Given the description of an element on the screen output the (x, y) to click on. 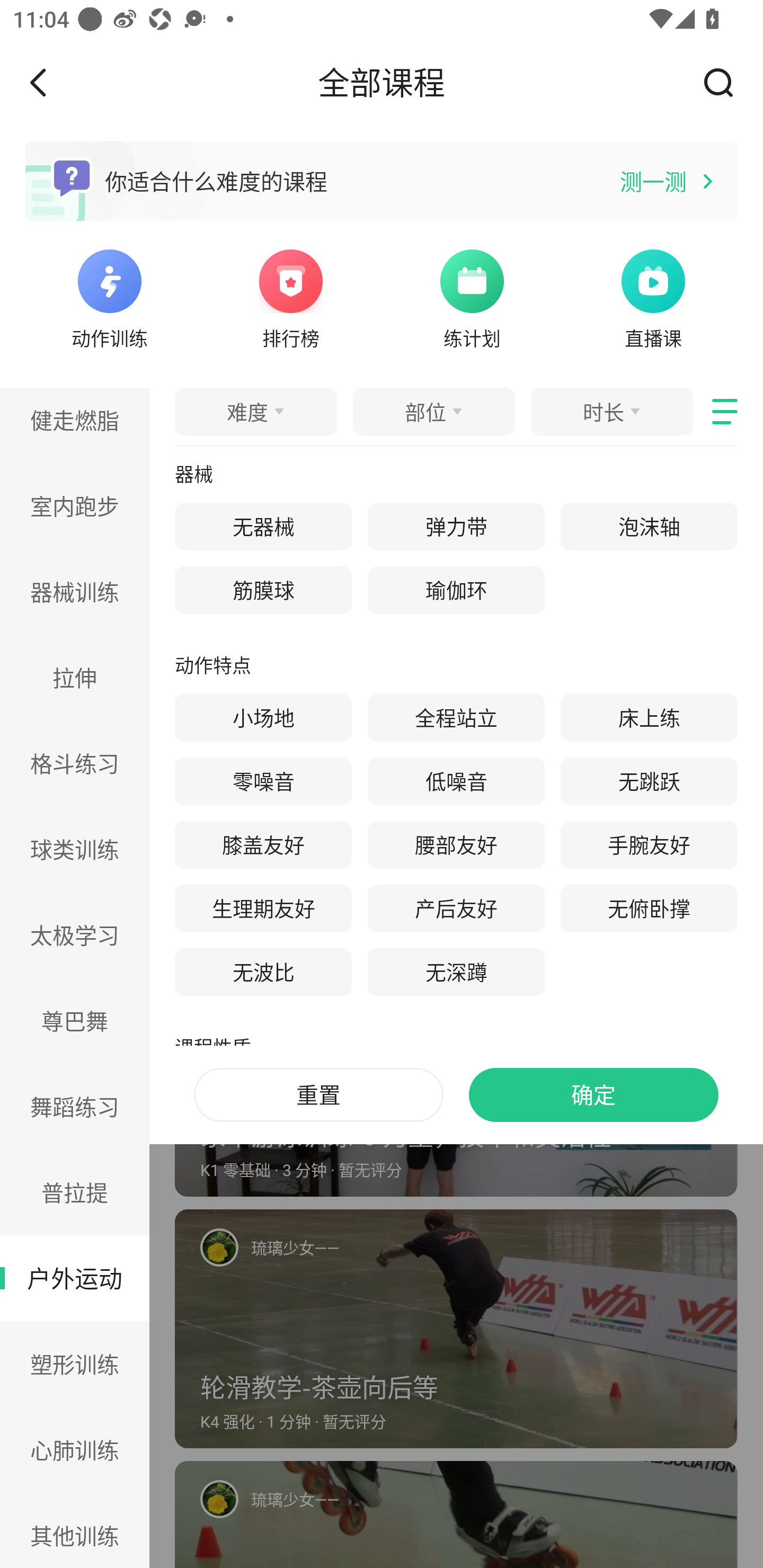
Left Button In Title Bar (50, 82)
Right Button In Title Bar (724, 82)
你适合什么难度的课程 测一测 (381, 181)
动作训练 (109, 297)
排行榜 (290, 297)
练计划 (471, 297)
直播课 (653, 297)
健走燃脂 (74, 424)
难度 (255, 411)
部位 (433, 411)
时长 (611, 411)
龙崽哭晕在厕所 在家练冲浪的秘籍！ K1 零基础 · 1 分钟 · 暂无评分 (456, 579)
室内跑步 (74, 505)
无器械 (262, 526)
弹力带 (455, 526)
泡沫轴 (648, 526)
器械训练 (74, 591)
筋膜球 (262, 590)
瑜伽环 (455, 590)
拉伸 (74, 677)
小场地 (262, 717)
全程站立 (455, 717)
床上练 (648, 717)
格斗练习 (74, 762)
零噪音 (262, 781)
低噪音 (455, 781)
无跳跃 (648, 781)
球类训练 (74, 848)
膝盖友好 (262, 844)
腰部友好 (455, 844)
手腕友好 (648, 844)
生理期友好 (262, 908)
产后友好 (455, 908)
无俯卧撑 (648, 908)
太极学习 (74, 935)
无波比 (262, 971)
无深蹲 (455, 971)
尊巴舞 (74, 1020)
舞蹈练习 (74, 1106)
重置 (318, 1094)
确定 (593, 1094)
普拉提 (74, 1192)
户外运动 (74, 1278)
塑形训练 (74, 1363)
心肺训练 (74, 1449)
其他训练 (74, 1530)
